Given the description of an element on the screen output the (x, y) to click on. 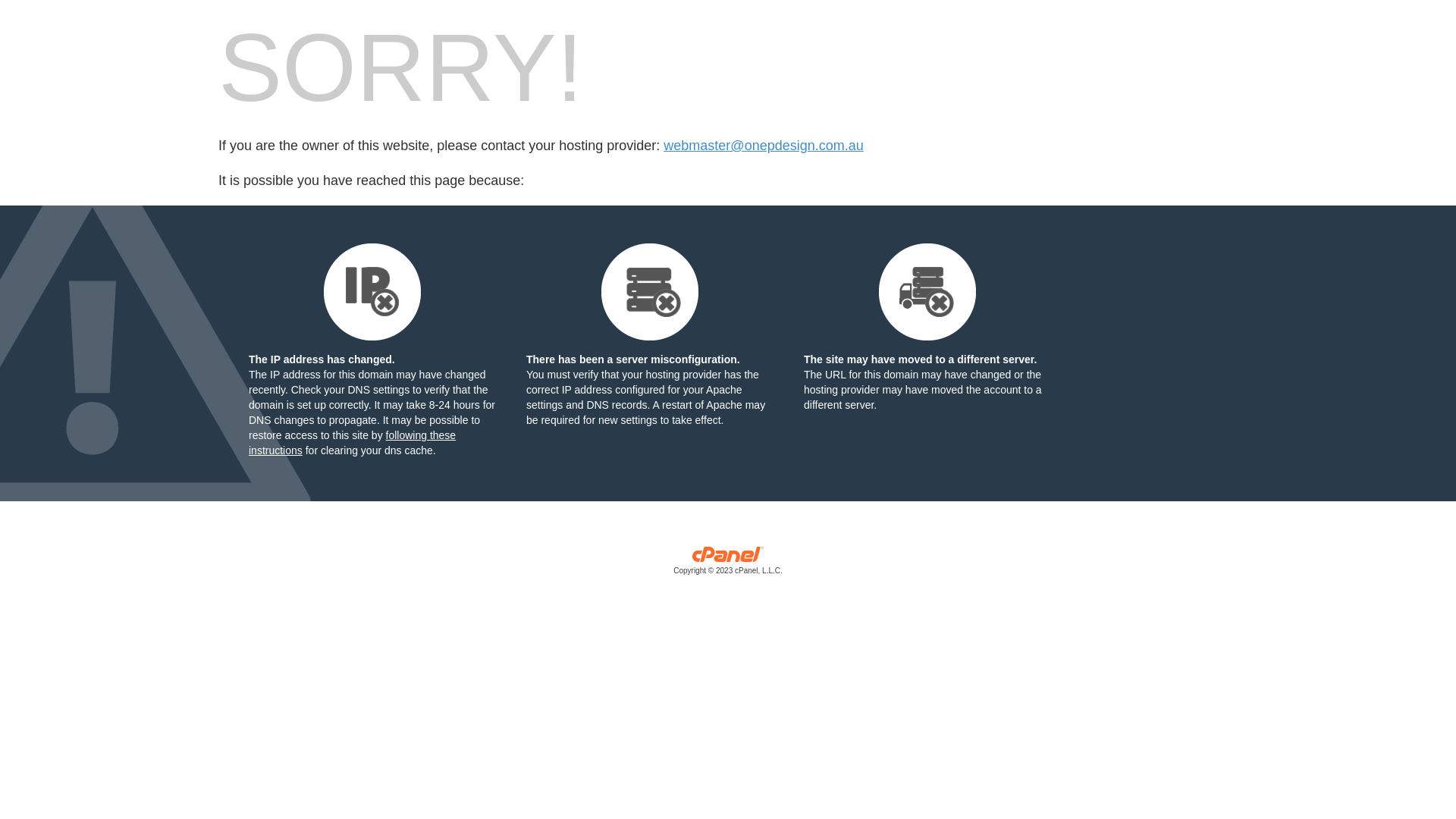
following these instructions Element type: text (351, 442)
webmaster@onepdesign.com.au Element type: text (762, 145)
